Given the description of an element on the screen output the (x, y) to click on. 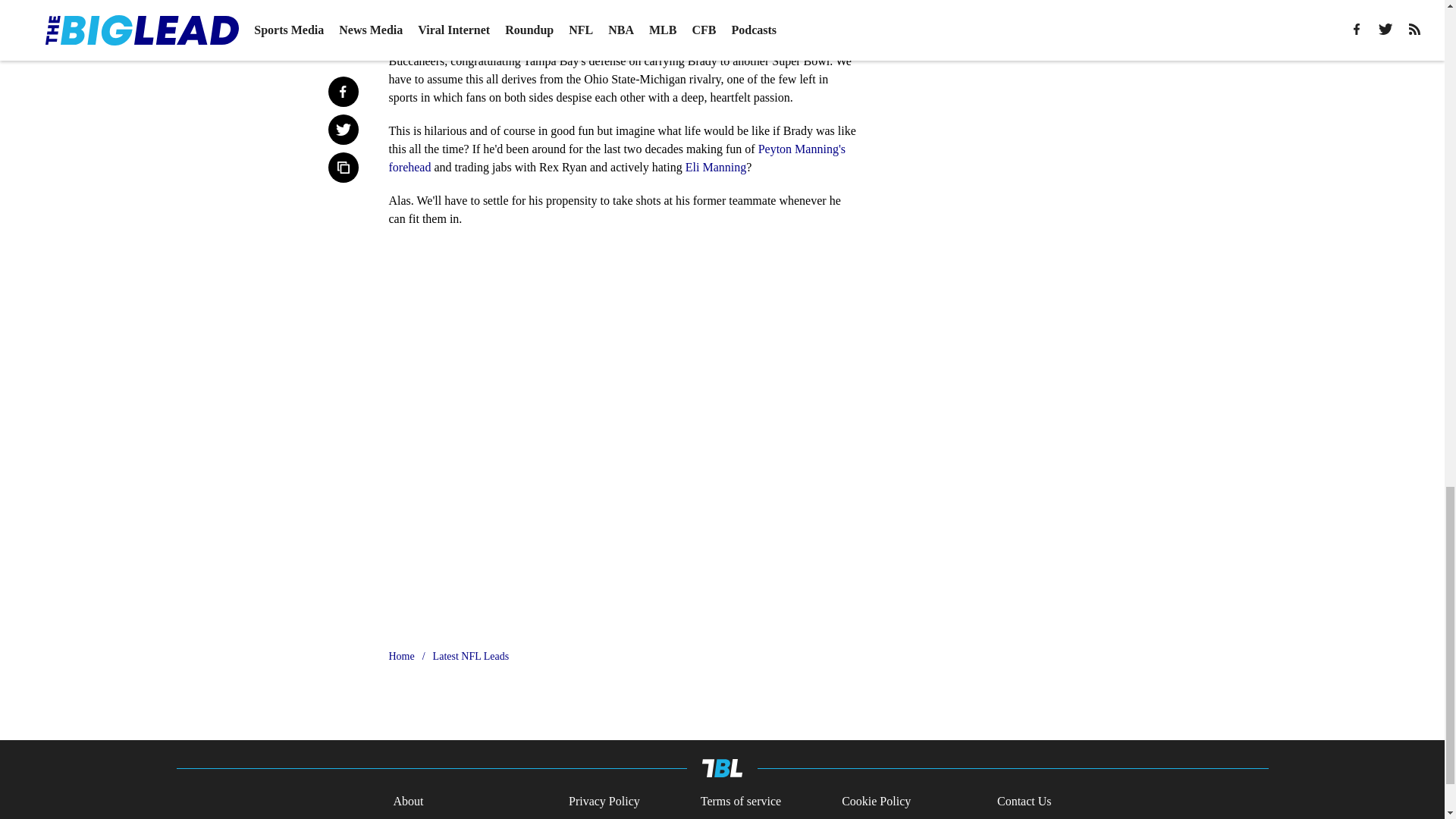
Privacy Policy (604, 801)
Peyton Manning's forehead (616, 157)
Eli Manning (715, 166)
Home (400, 656)
Cookie Policy (876, 801)
Latest NFL Leads (470, 656)
Terms of service (740, 801)
Contact Us (1024, 801)
About (408, 801)
